Given the description of an element on the screen output the (x, y) to click on. 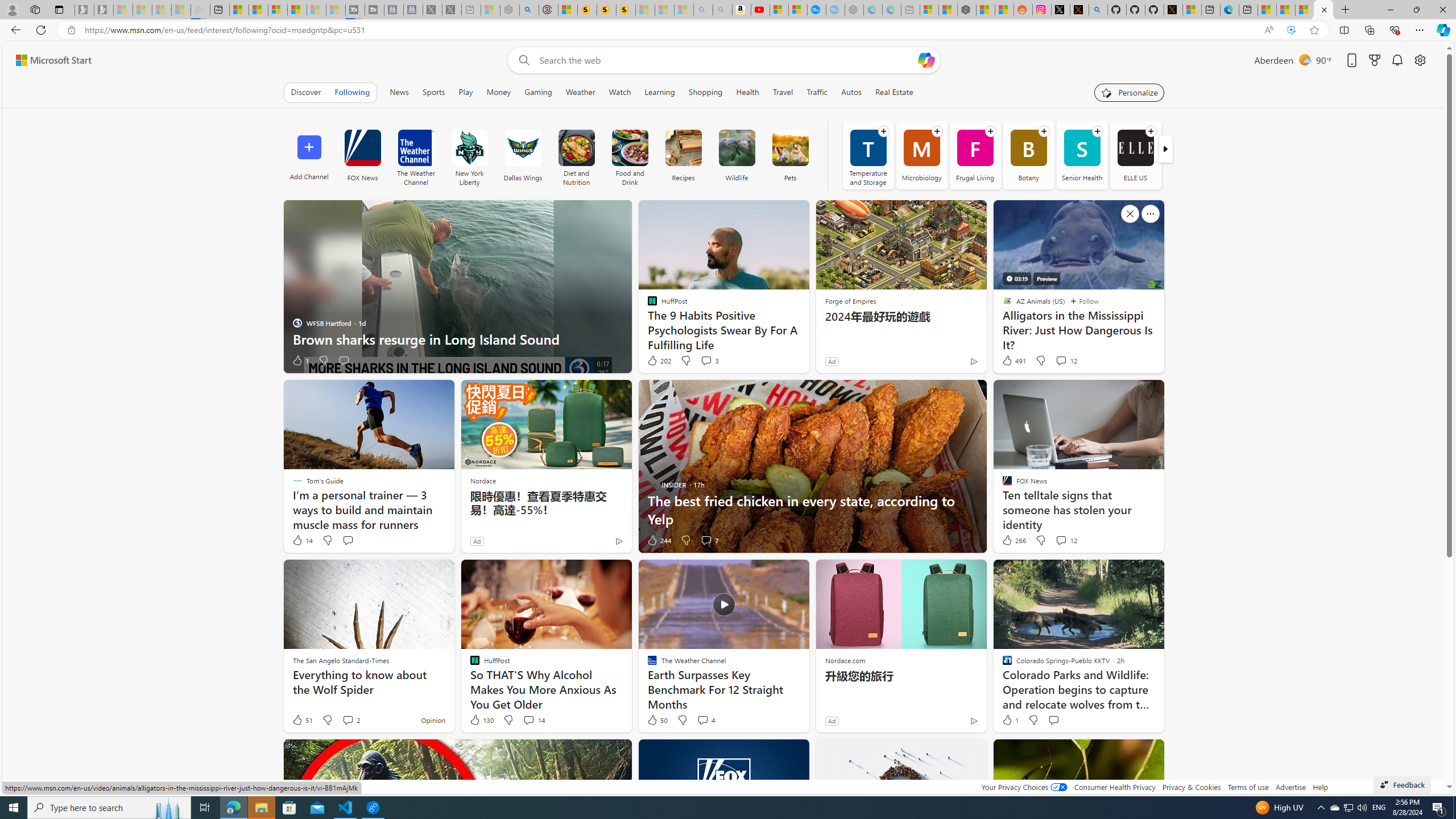
View comments 12 Comment (1065, 539)
244 Like (658, 539)
Pets (790, 155)
Add Channel (308, 155)
Newsletter Sign Up - Sleeping (102, 9)
51 Like (301, 719)
Nordace - Duffels (966, 9)
